Given the description of an element on the screen output the (x, y) to click on. 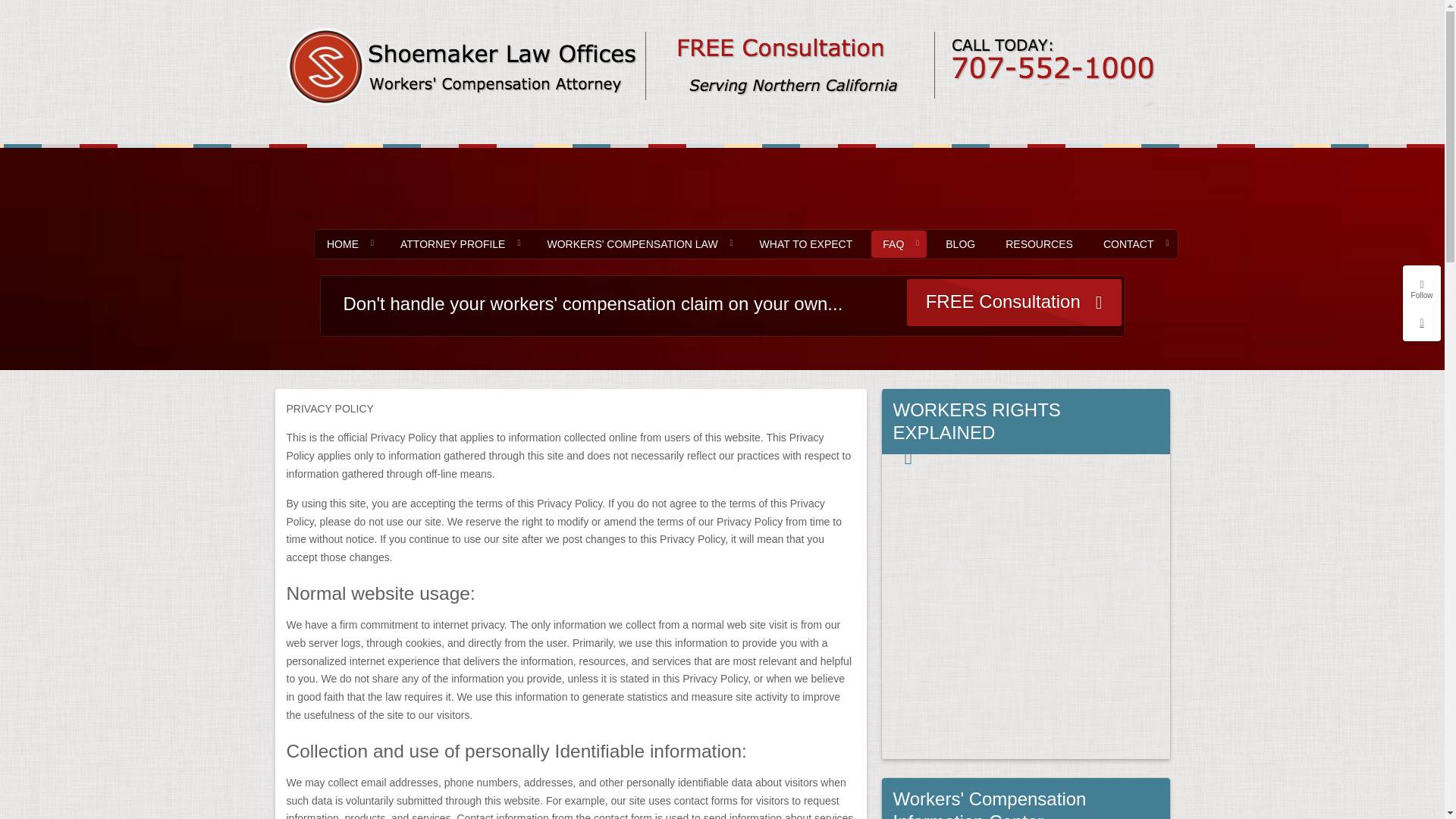
ATTORNEY PROFILE (457, 243)
WORKERS' COMPENSATION LAW (637, 243)
WHAT TO EXPECT (806, 243)
BLOG (960, 243)
FAQ (898, 243)
RESOURCES (1039, 243)
HOME (348, 243)
CONTACT (1134, 243)
